Given the description of an element on the screen output the (x, y) to click on. 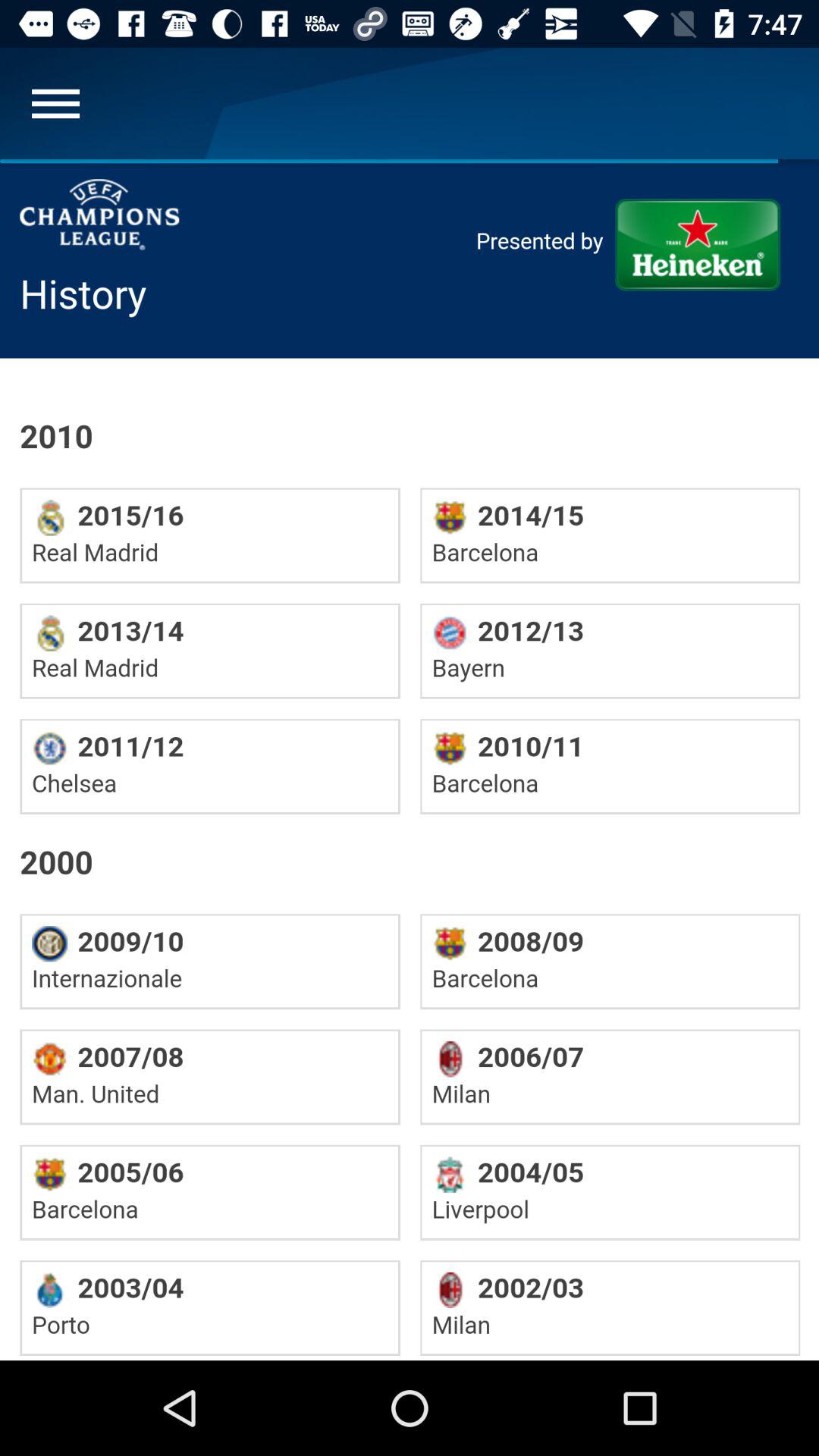
menu (55, 103)
